Given the description of an element on the screen output the (x, y) to click on. 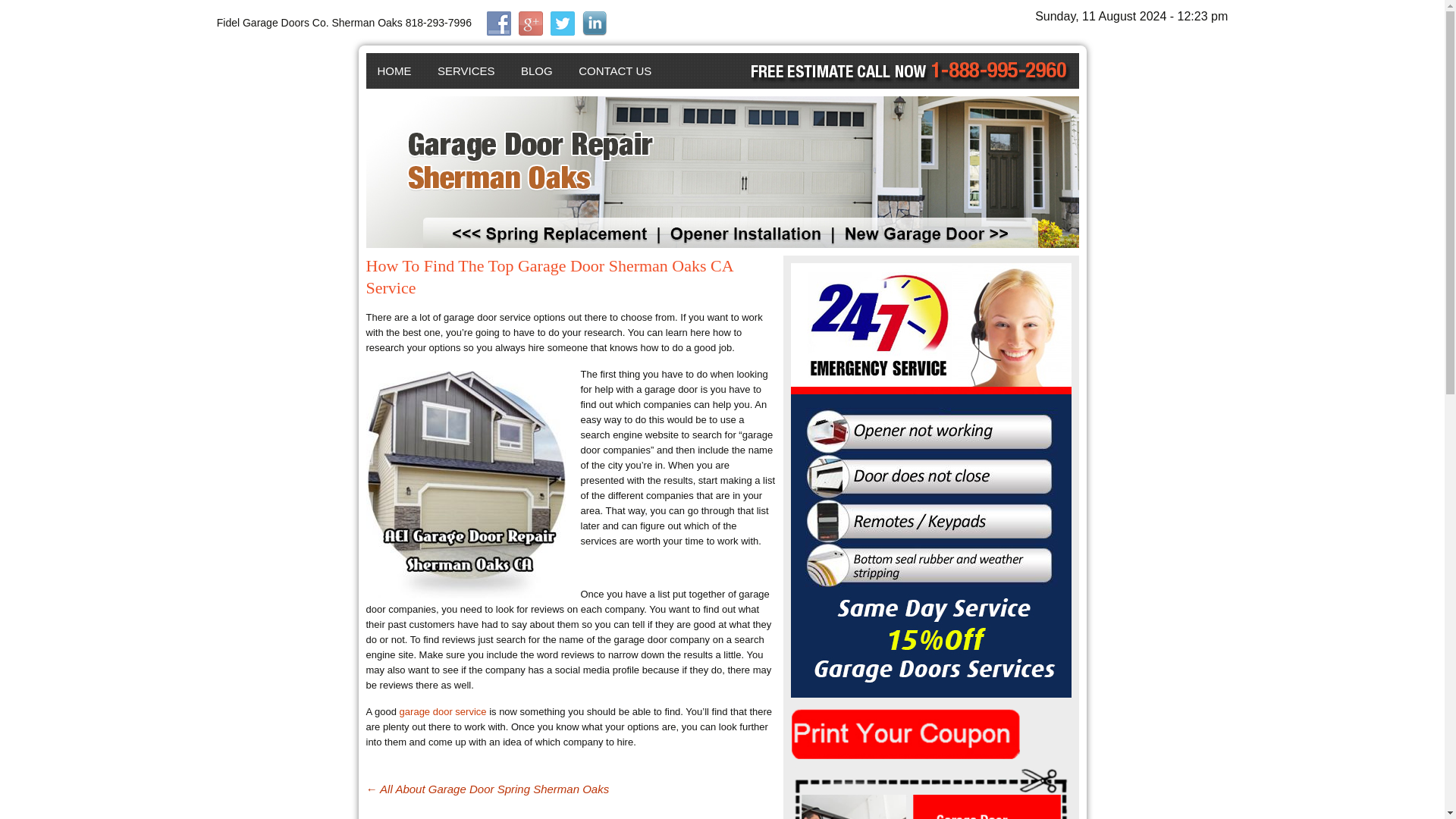
 Twitter (562, 23)
 LinkedIn (594, 23)
CONTACT US (614, 70)
SERVICES (466, 70)
BLOG (536, 70)
garage door service (442, 711)
 Facebook (498, 23)
HOME (393, 70)
GARAGE DOOR OPENER REPAIR SHERMAN OAKS (512, 123)
